Given the description of an element on the screen output the (x, y) to click on. 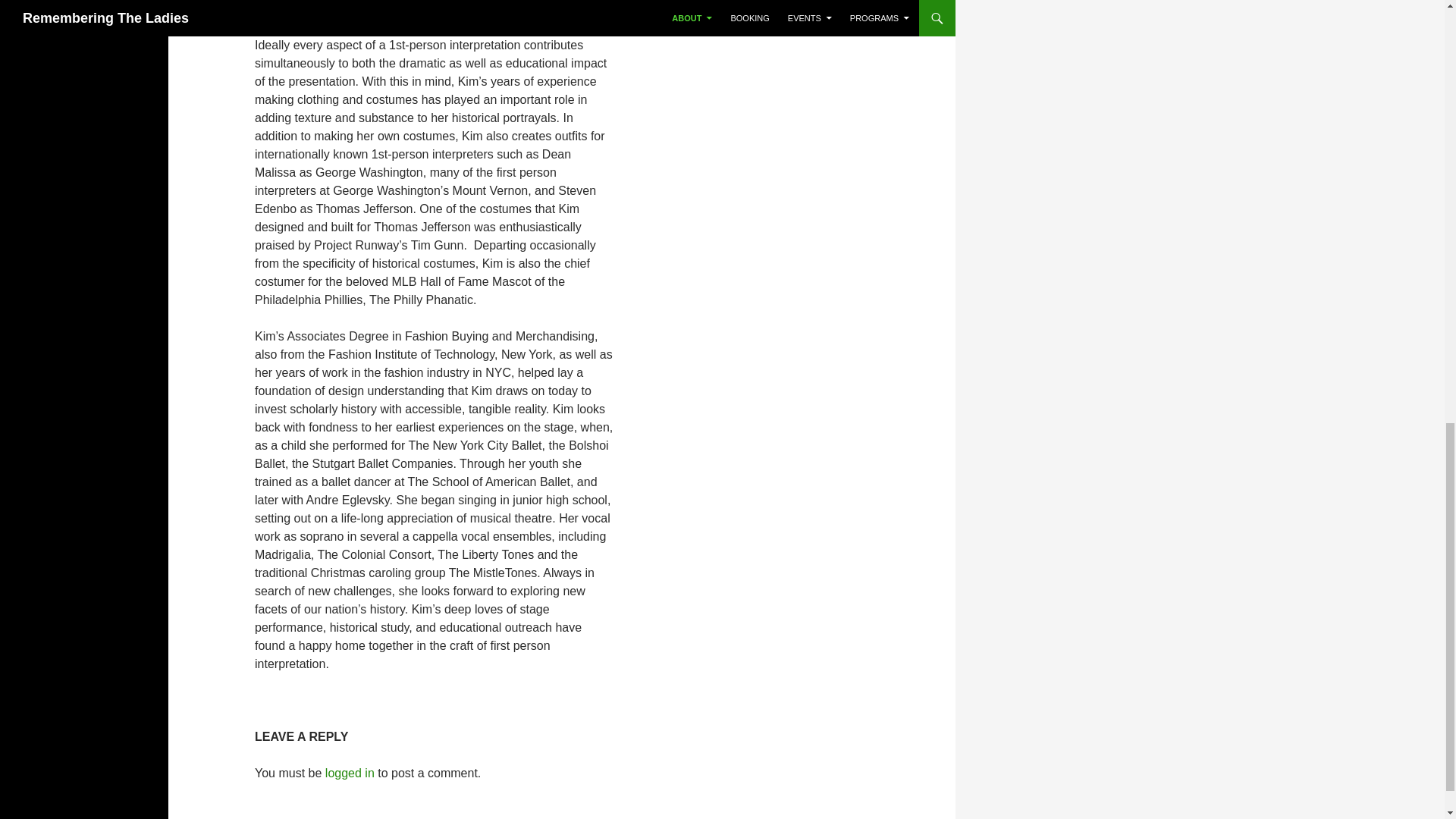
logged in (349, 772)
